Given the description of an element on the screen output the (x, y) to click on. 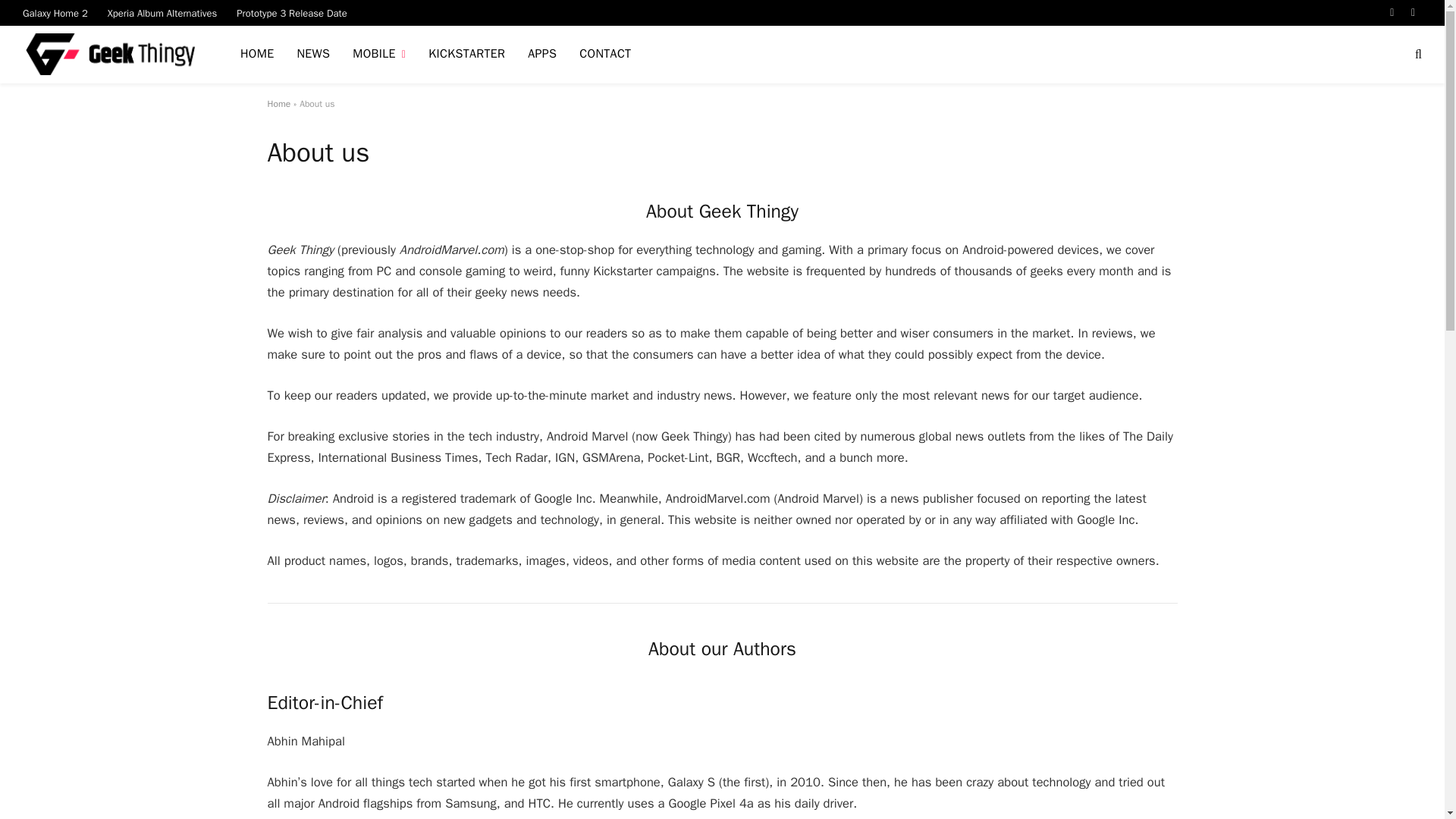
Geek Thingy (112, 54)
APPS (541, 54)
Galaxy Home 2 (55, 12)
Xperia Album Alternatives (162, 12)
KICKSTARTER (466, 54)
NEWS (312, 54)
Prototype 3 Release Date (291, 12)
MOBILE (378, 54)
HOME (256, 54)
CONTACT (604, 54)
